Given the description of an element on the screen output the (x, y) to click on. 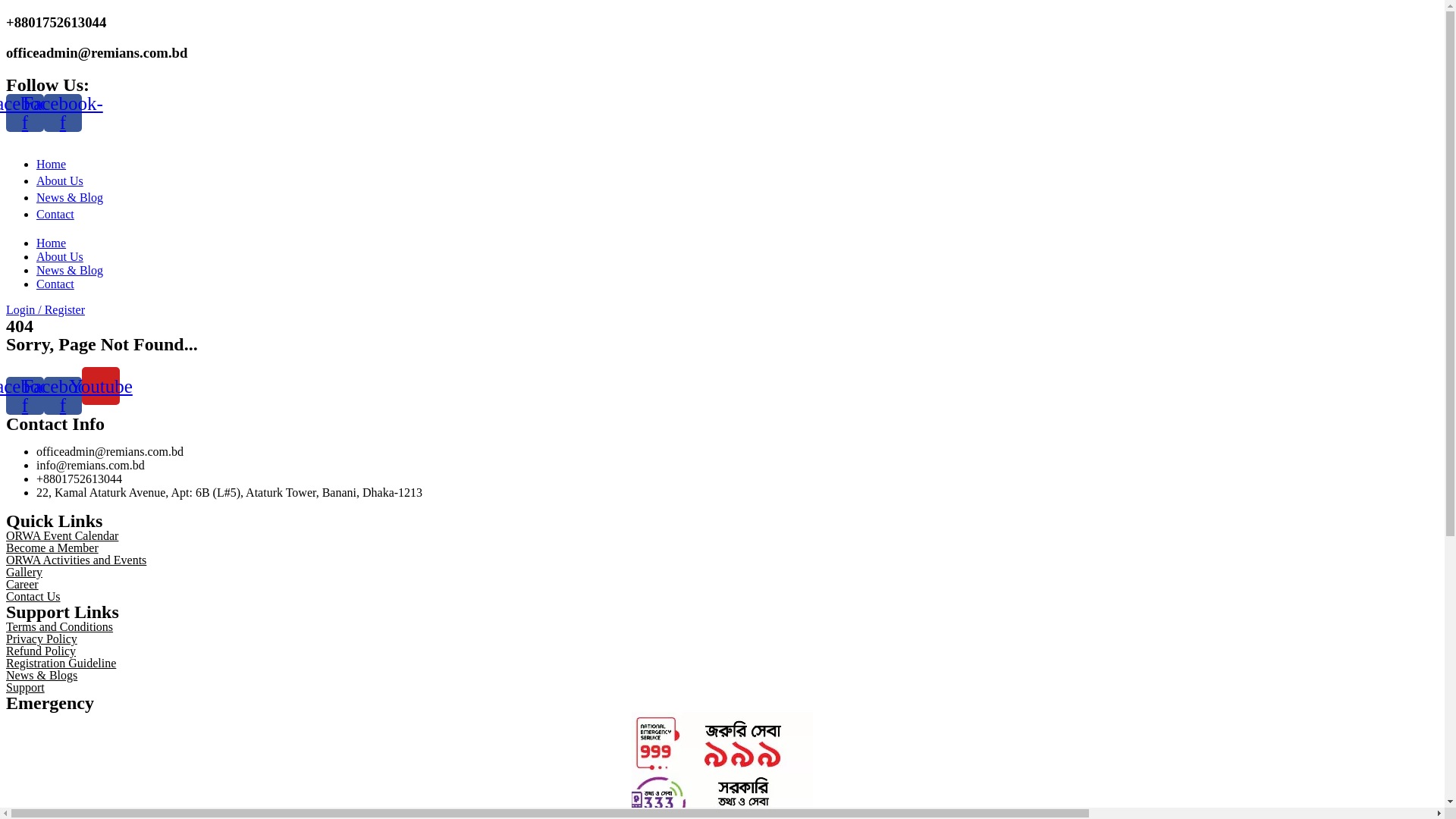
Contact Element type: text (737, 215)
Youtube Element type: text (100, 385)
ORWA Event Calendar Element type: text (62, 535)
About Us Element type: text (59, 256)
ORWA Activities and Events Element type: text (76, 559)
Home Element type: text (737, 165)
Contact Element type: text (55, 283)
Facebook-f Element type: text (24, 112)
Contact Us Element type: text (33, 595)
Terms and Conditions Element type: text (59, 626)
News & Blog Element type: text (737, 199)
News & Blogs Element type: text (41, 674)
Privacy Policy Element type: text (41, 638)
News & Blog Element type: text (69, 269)
Career Element type: text (22, 583)
Home Element type: text (50, 242)
Facebook-f Element type: text (62, 395)
Support Element type: text (25, 686)
Refund Policy Element type: text (40, 650)
Login / Register Element type: text (45, 309)
Facebook-f Element type: text (62, 112)
About Us Element type: text (737, 182)
Facebook-f Element type: text (24, 395)
Gallery Element type: text (24, 571)
Registration Guideline Element type: text (61, 662)
Become a Member Element type: text (52, 547)
